Given the description of an element on the screen output the (x, y) to click on. 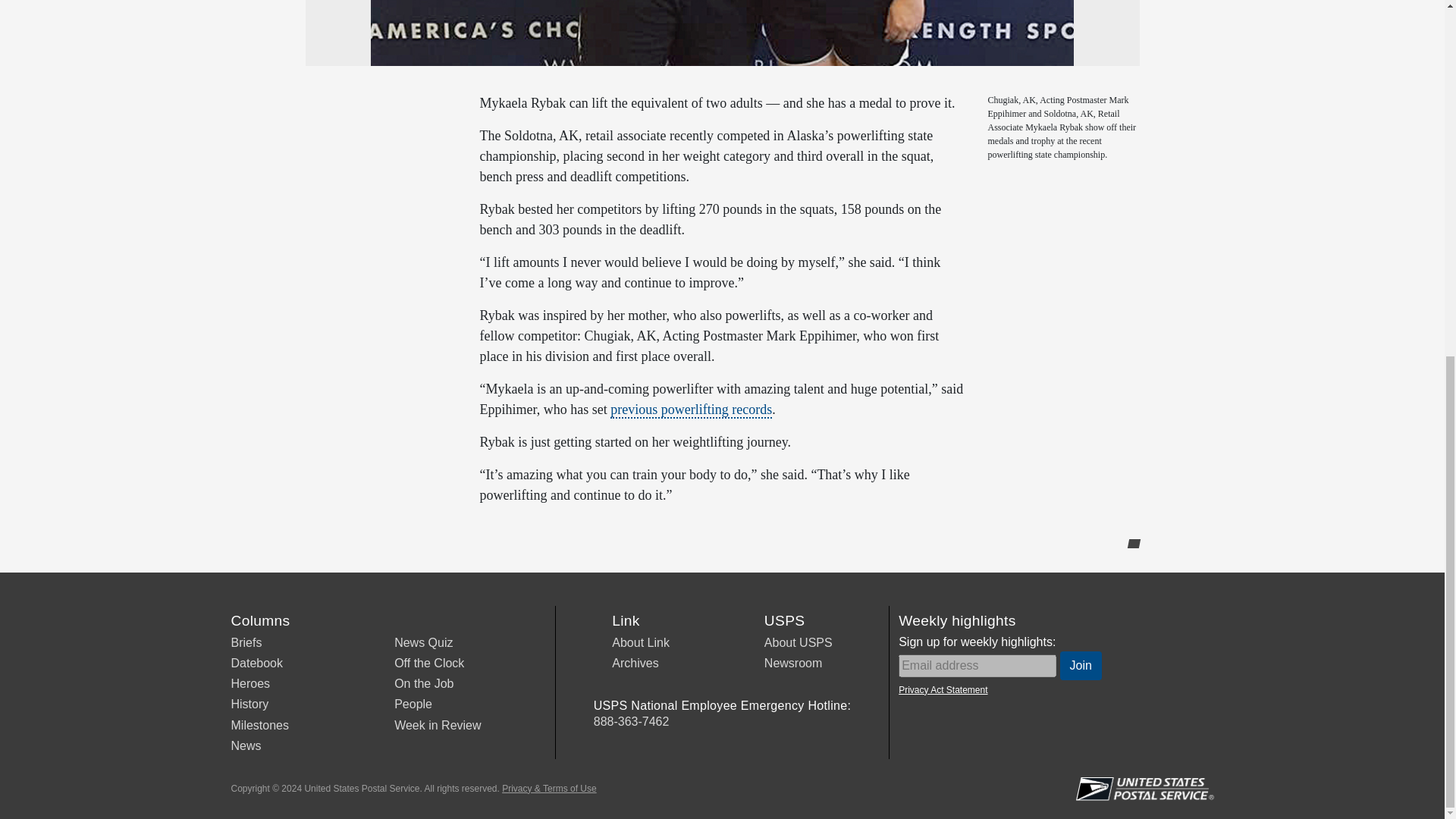
Heroes (249, 683)
About Link (640, 642)
About USPS (798, 642)
Join (1080, 665)
News (245, 745)
previous powerlifting records (690, 410)
History (248, 703)
Milestones (259, 725)
Join (1080, 665)
Off the Clock (429, 662)
